Given the description of an element on the screen output the (x, y) to click on. 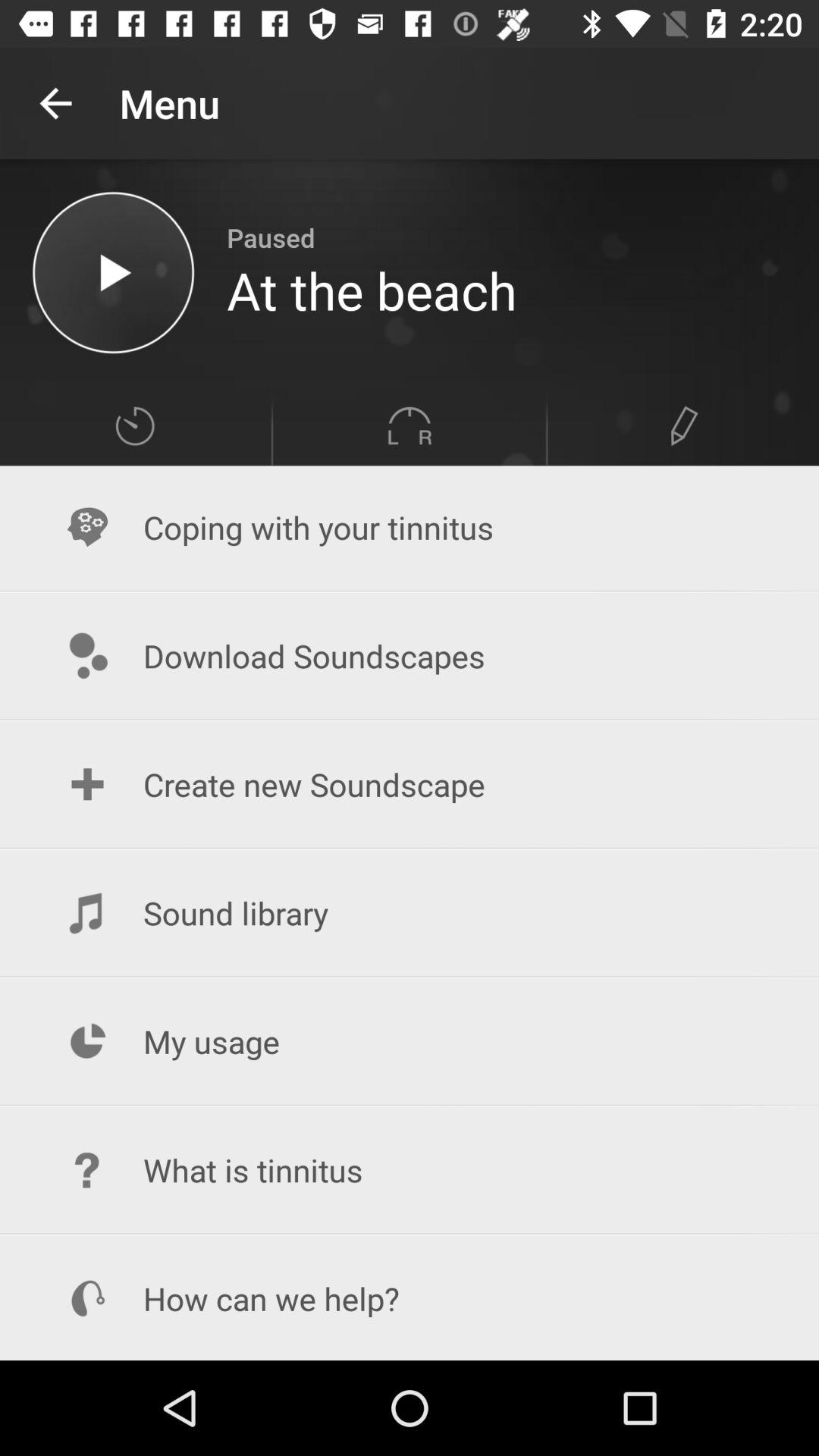
flip to the how can we (409, 1298)
